Given the description of an element on the screen output the (x, y) to click on. 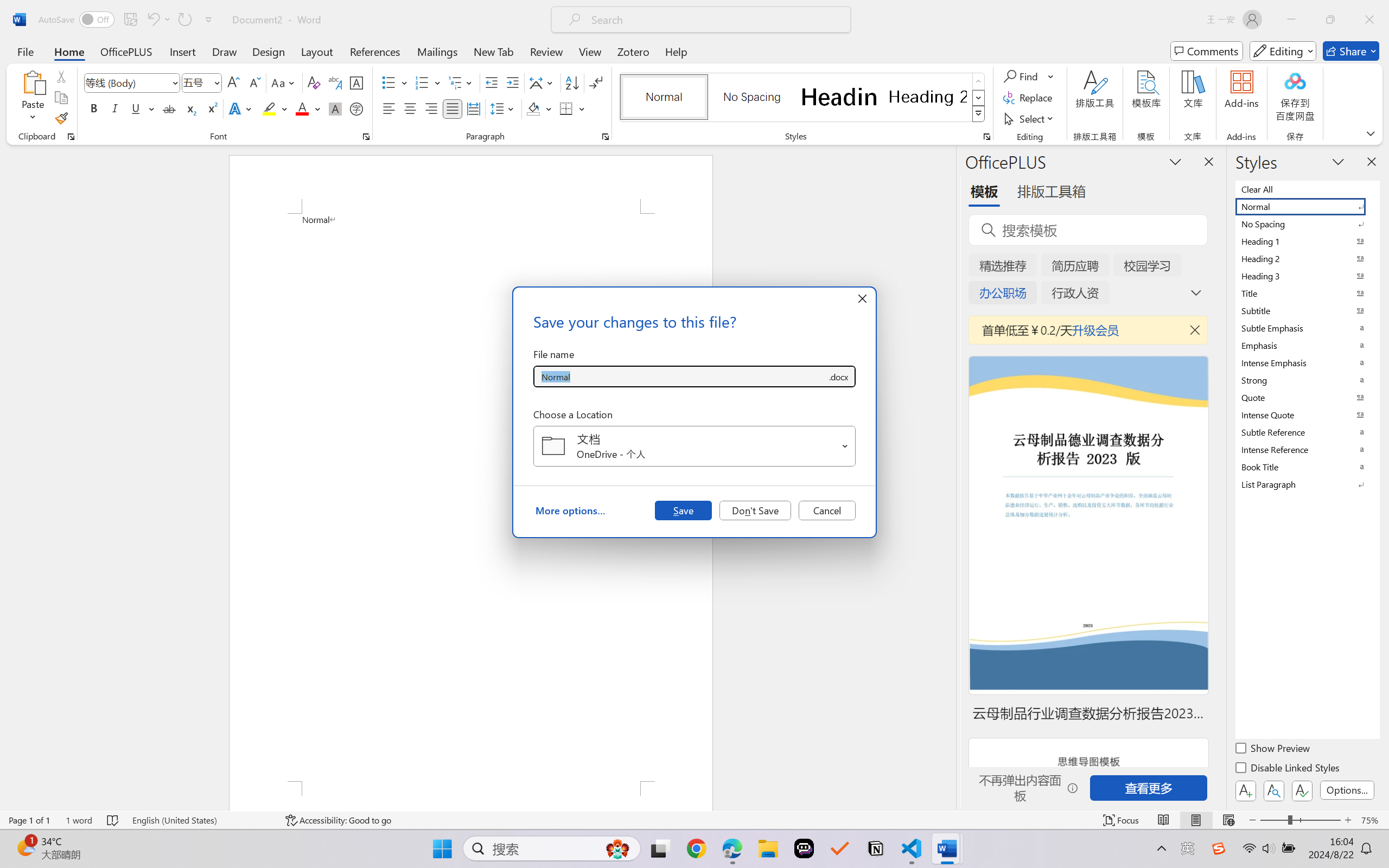
Increase Indent (512, 82)
Character Border (356, 82)
Text Highlight Color (274, 108)
Title (1306, 293)
Font Color Red (302, 108)
Read Mode (1163, 819)
Distributed (473, 108)
